Given the description of an element on the screen output the (x, y) to click on. 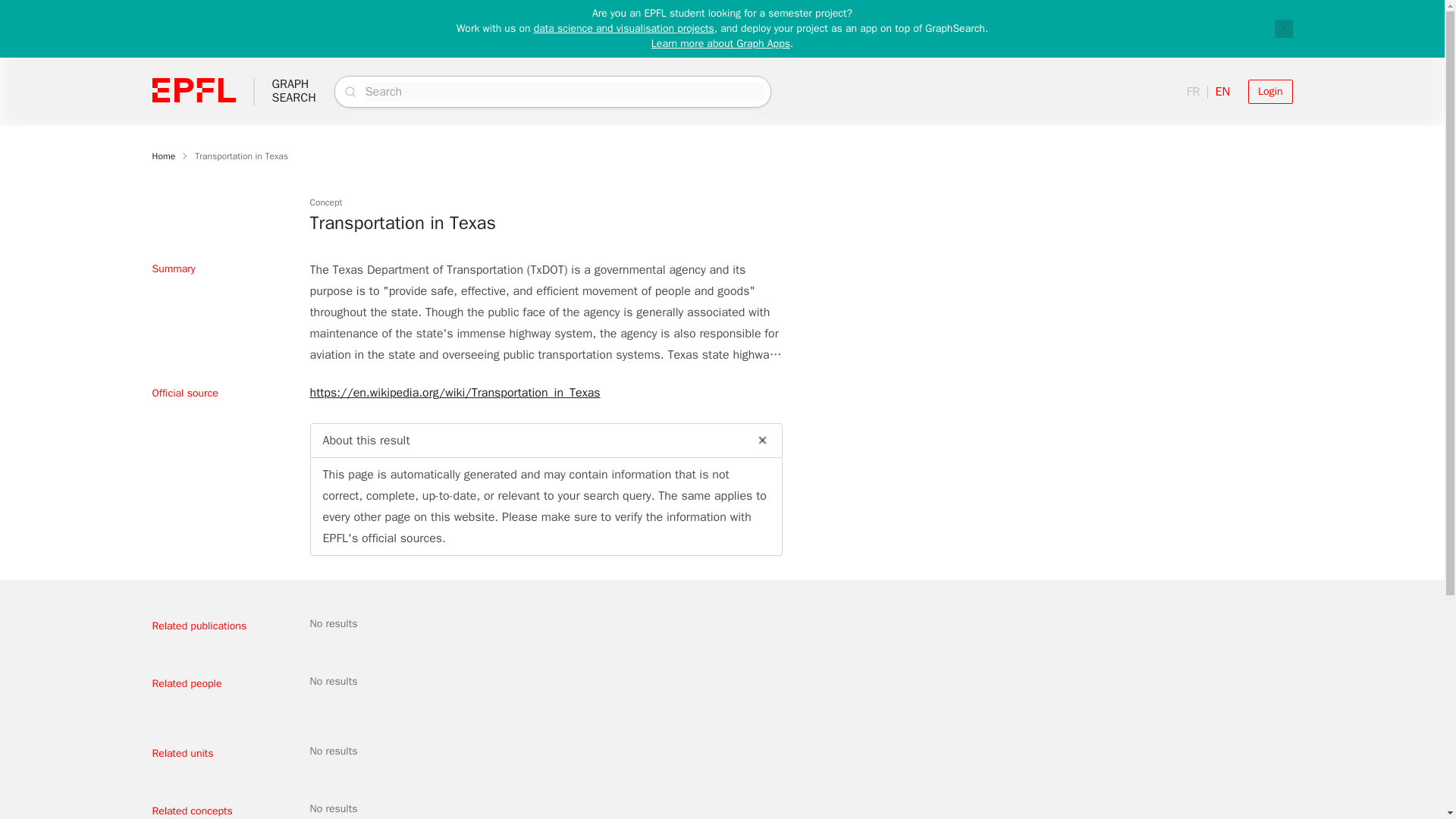
Close notification (1283, 28)
Home (162, 155)
Transportation in Texas (241, 155)
data science and visualisation projects (292, 90)
Learn more about Graph Apps (624, 28)
Login (720, 42)
